Given the description of an element on the screen output the (x, y) to click on. 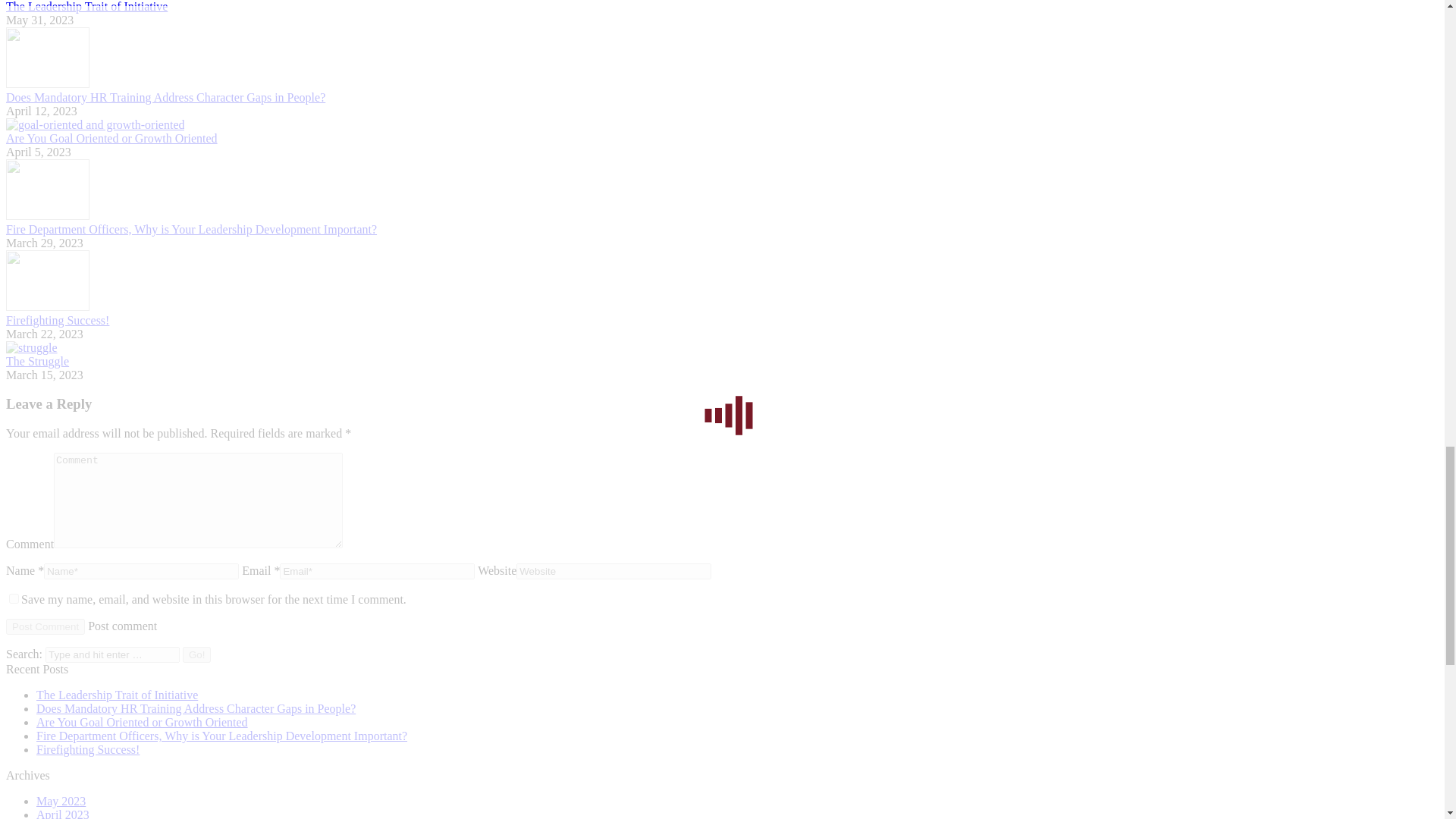
Post Comment (44, 626)
Go! (197, 654)
yes (13, 598)
Go! (197, 654)
